Given the description of an element on the screen output the (x, y) to click on. 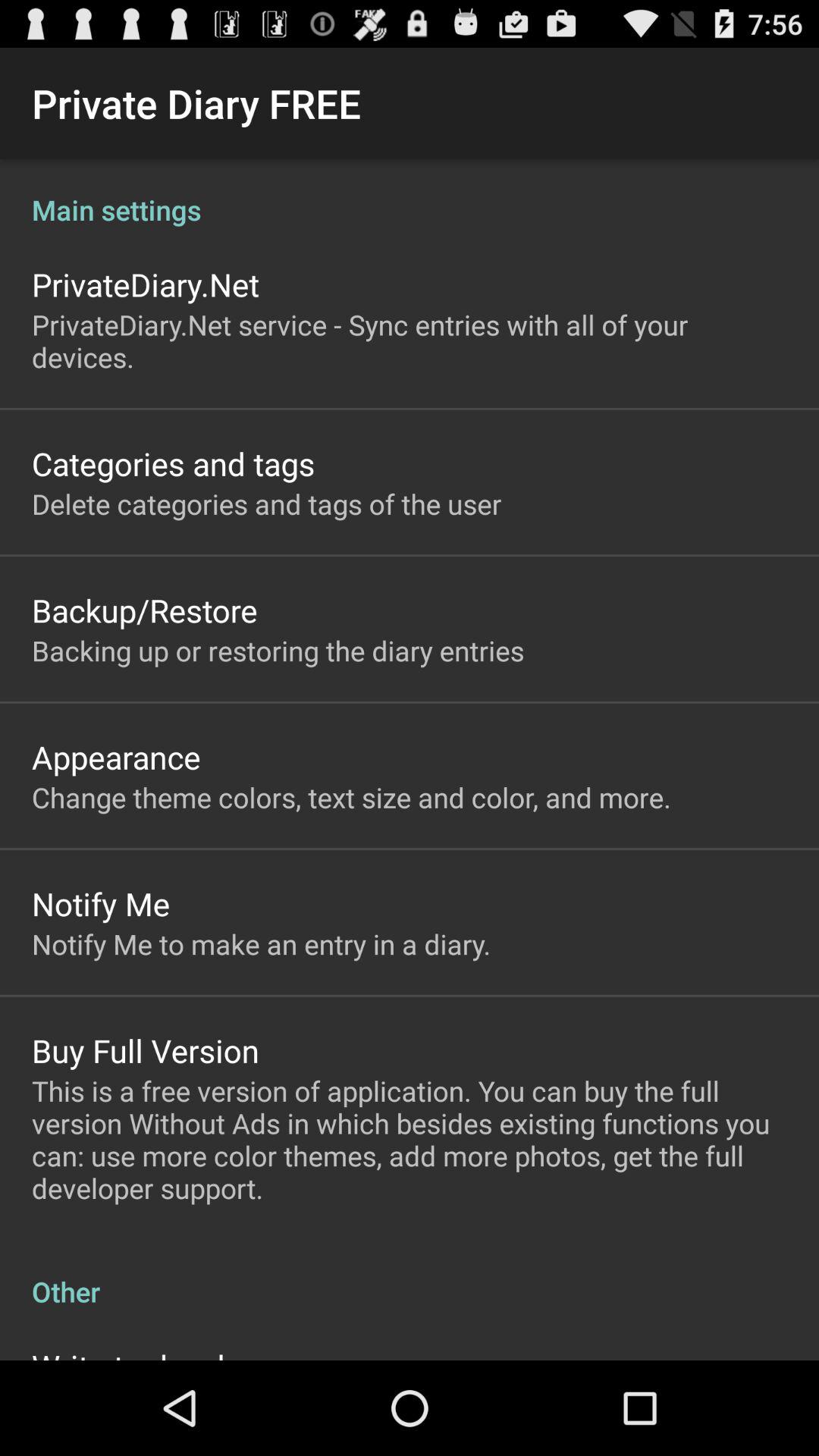
open the this is a (409, 1139)
